Given the description of an element on the screen output the (x, y) to click on. 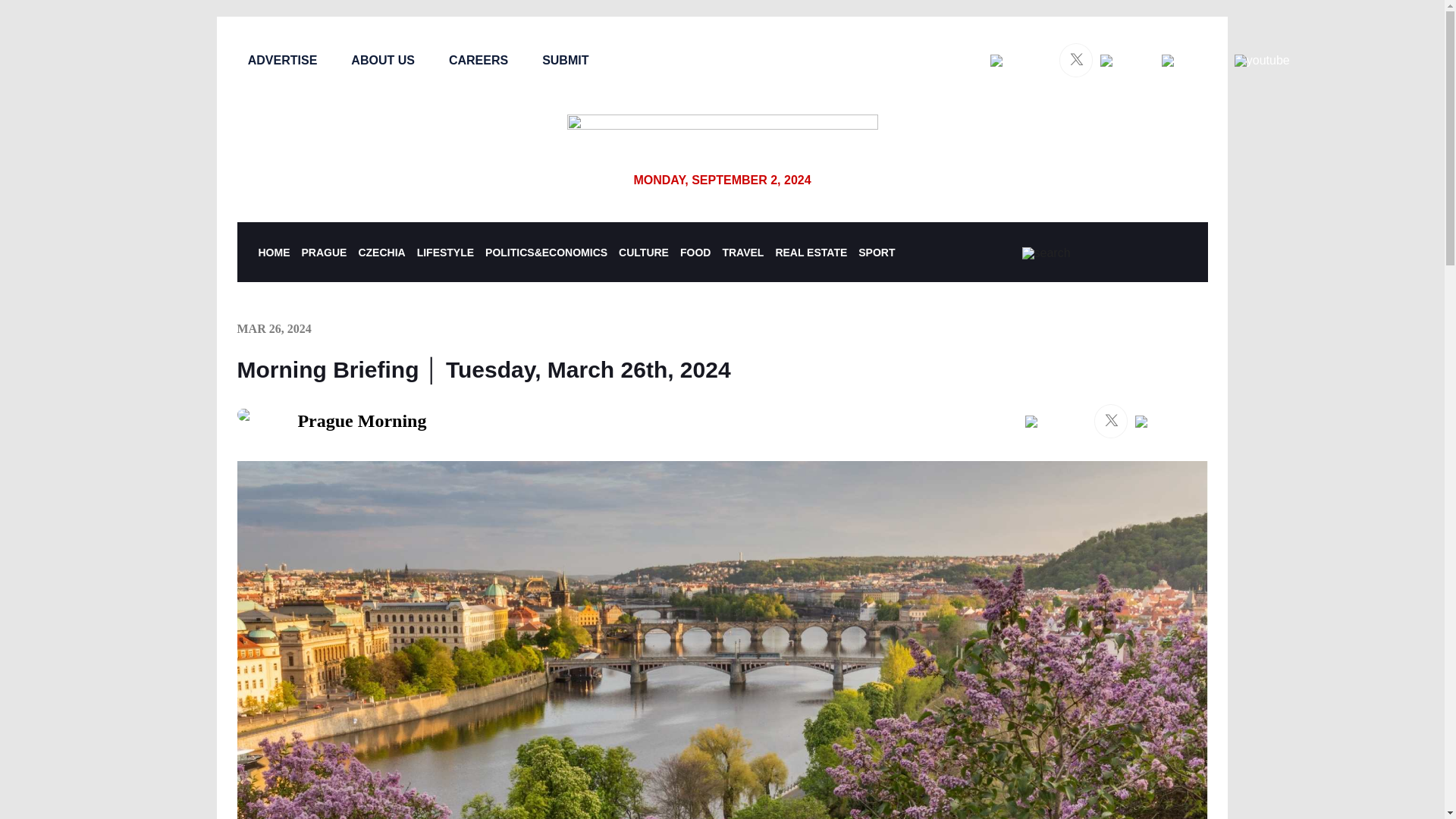
HOME (273, 252)
CAREERS (478, 60)
ABOUT US (382, 60)
Prague Morning (330, 420)
CULTURE (643, 252)
TRAVEL (742, 252)
SUBMIT (564, 60)
PRAGUE (324, 252)
ADVERTISE (282, 60)
CZECHIA (381, 252)
